Given the description of an element on the screen output the (x, y) to click on. 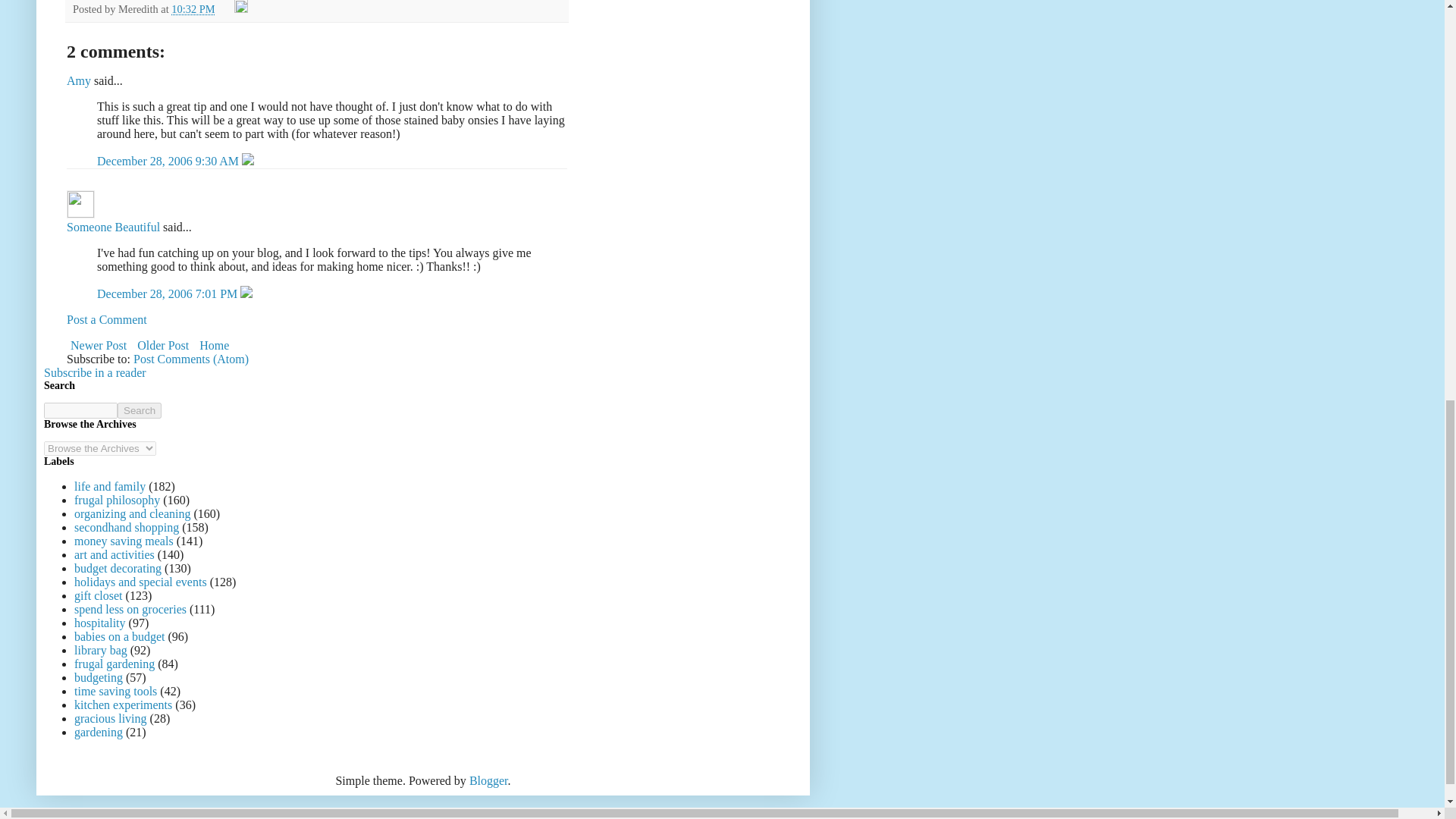
December 28, 2006 9:30 AM (169, 160)
Newer Post (98, 344)
life and family (109, 486)
permanent link (192, 9)
Delete Comment (245, 293)
Someone Beautiful (113, 226)
Someone Beautiful (80, 204)
gift closet (98, 594)
Newer Post (98, 344)
Post a Comment (106, 318)
